Given the description of an element on the screen output the (x, y) to click on. 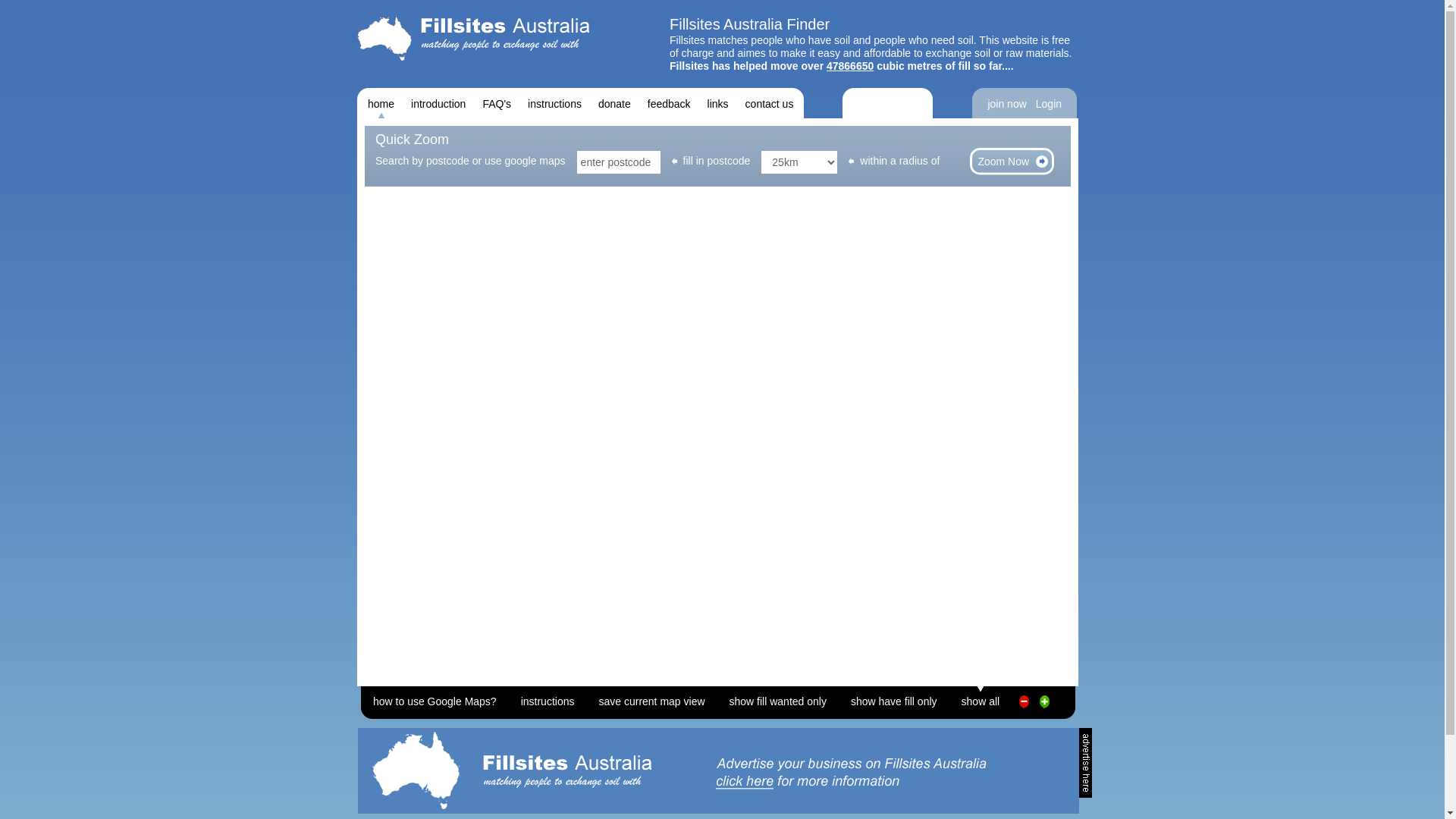
Zoom Now Element type: text (1011, 161)
save current map view Element type: text (651, 697)
FAQ's Element type: text (496, 102)
Login Element type: text (1048, 102)
show have fill only Element type: text (893, 697)
have fill Element type: hover (1044, 706)
show all Element type: text (980, 697)
feedback Element type: text (668, 102)
instructions Element type: text (547, 697)
fill wanted Element type: hover (1024, 706)
show fill wanted only Element type: text (777, 697)
home Element type: text (380, 102)
links Element type: text (717, 102)
contact us Element type: text (769, 102)
join now Element type: text (1006, 102)
Fillsites Australia Element type: hover (473, 37)
how to use Google Maps? Element type: text (434, 697)
donate Element type: text (614, 102)
instructions Element type: text (554, 102)
introduction Element type: text (438, 102)
